Given the description of an element on the screen output the (x, y) to click on. 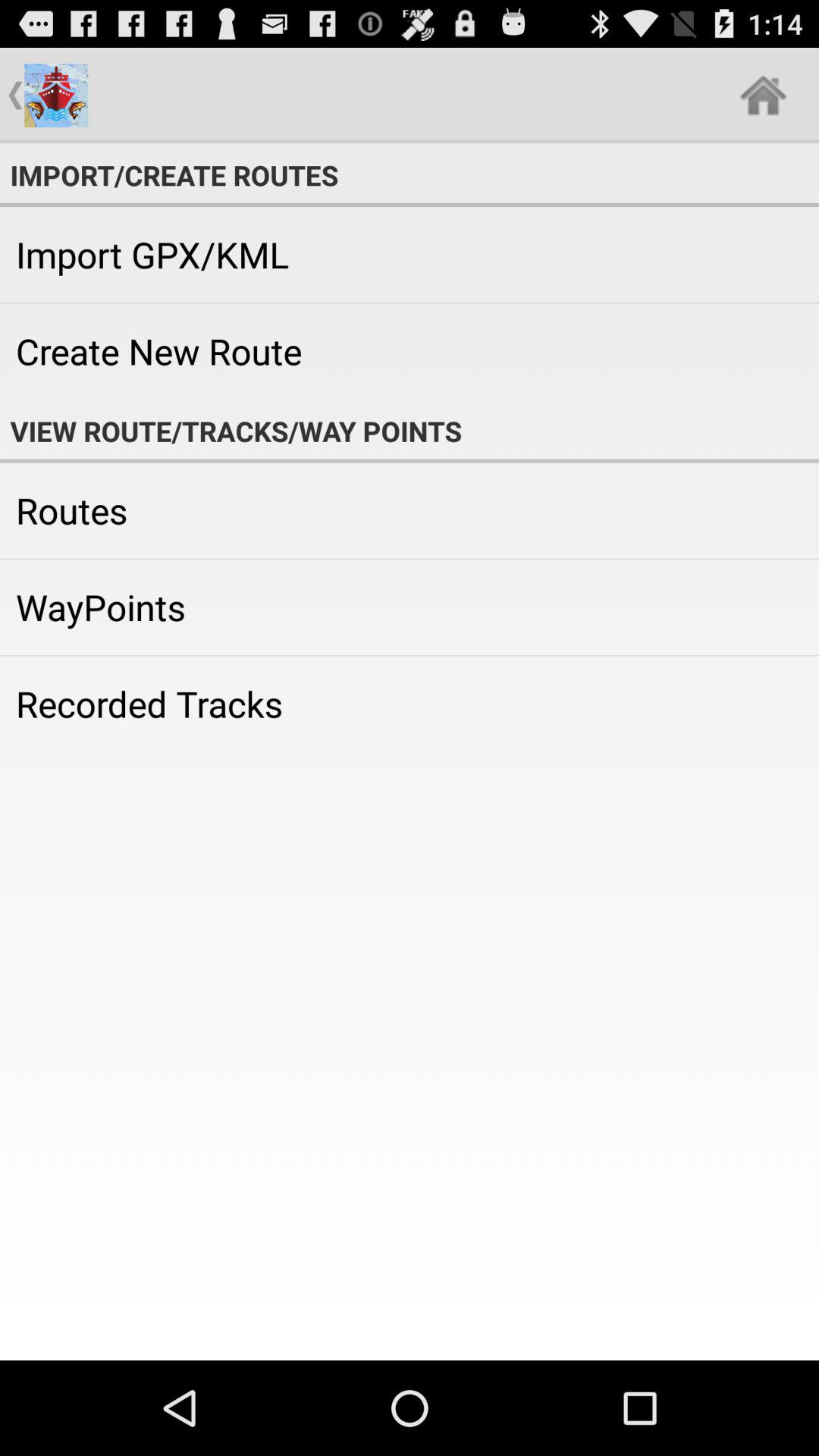
turn off the item above the view route tracks icon (409, 351)
